Given the description of an element on the screen output the (x, y) to click on. 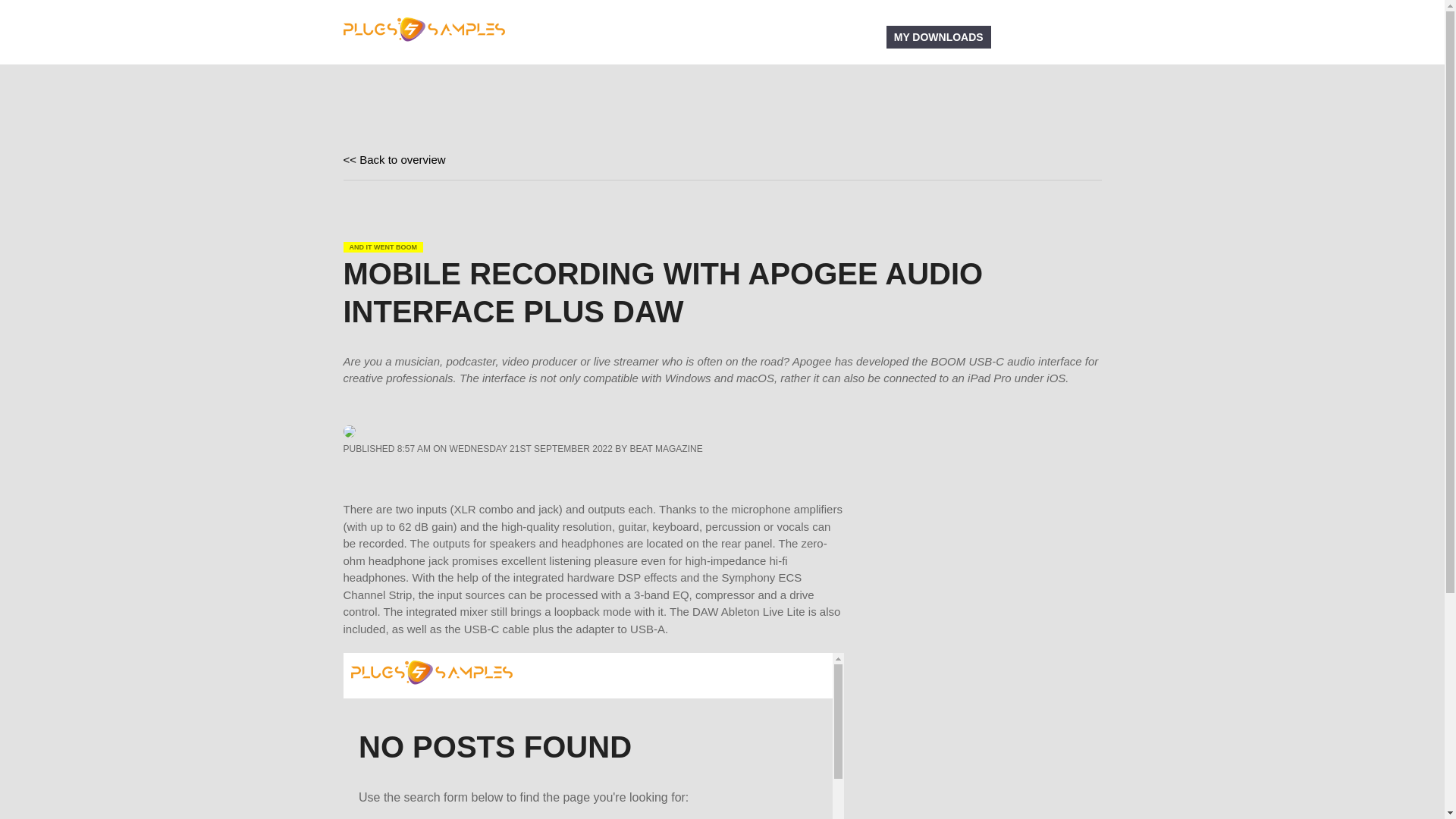
ALL STUDIO PACKS (767, 36)
SHOP (856, 37)
BLOG (677, 37)
MY DOWNLOADS (938, 36)
HOME (624, 36)
